Given the description of an element on the screen output the (x, y) to click on. 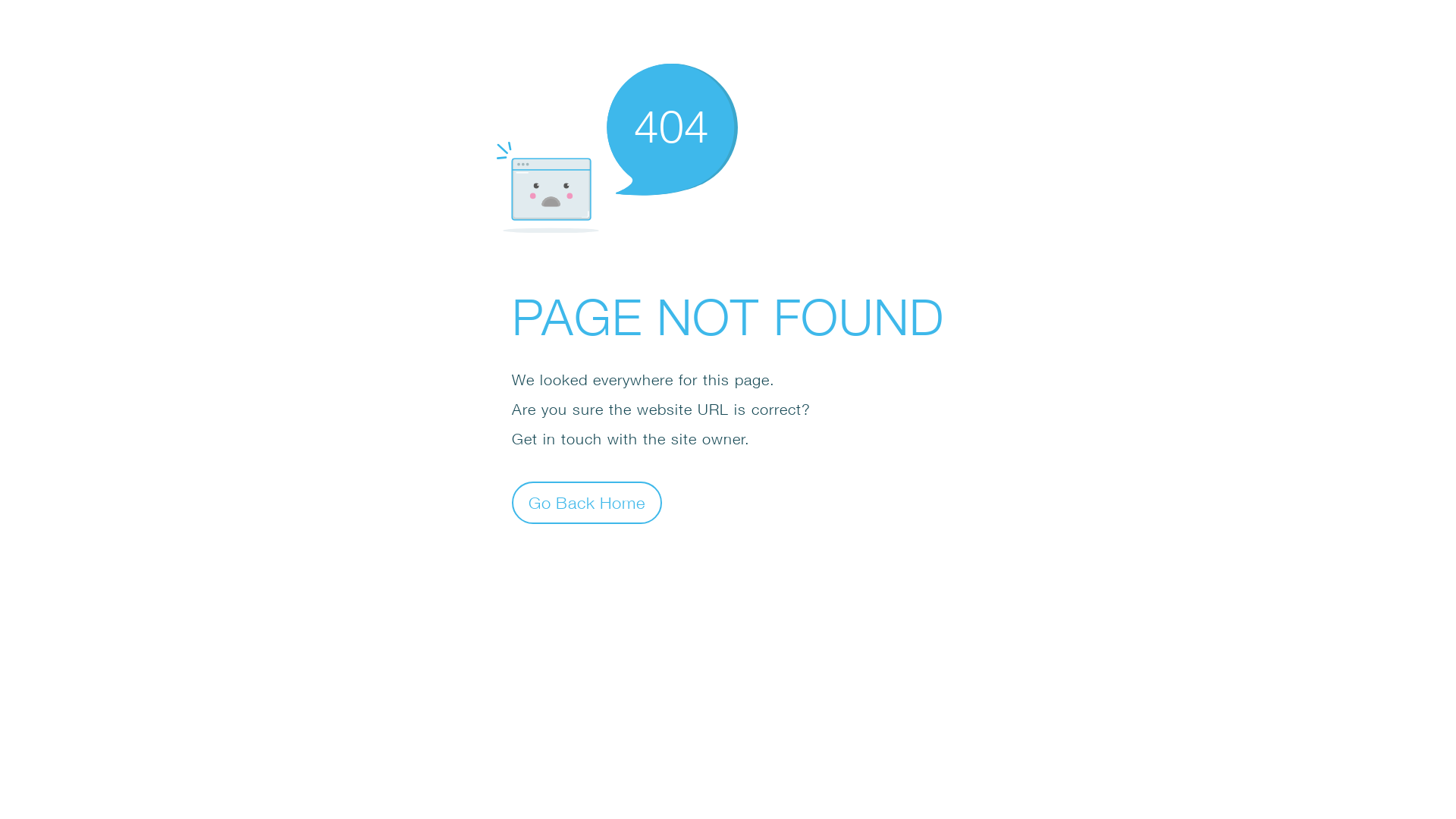
Go Back Home Element type: text (586, 502)
